Given the description of an element on the screen output the (x, y) to click on. 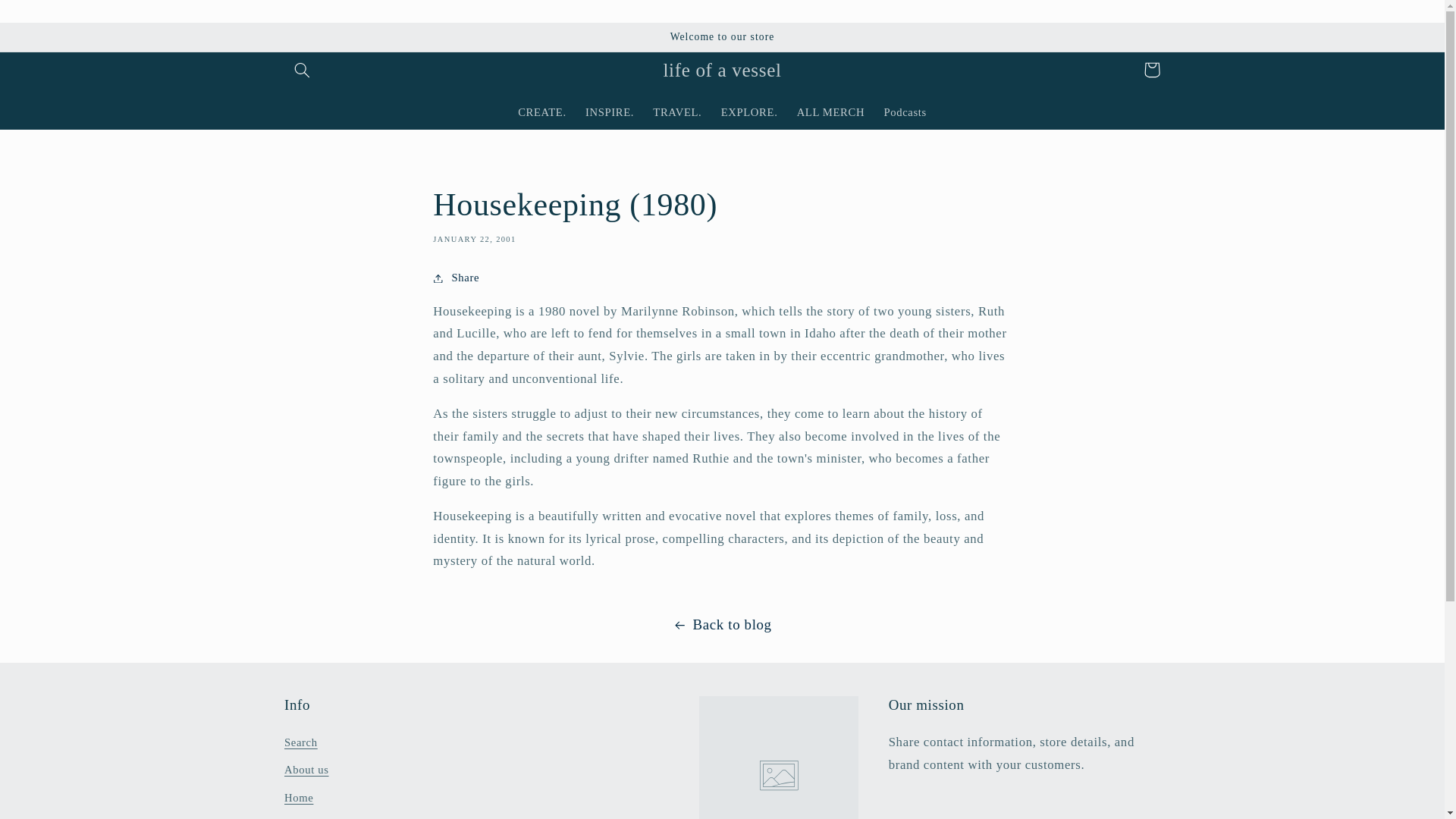
Podcasts (905, 112)
Skip to content (48, 18)
life of a vessel (721, 69)
CREATE. (542, 112)
Home (298, 797)
Search (300, 744)
About us (306, 769)
ALL MERCH (831, 112)
Cart (1151, 69)
TRAVEL. (677, 112)
INSPIRE. (609, 112)
EXPLORE. (749, 112)
